Given the description of an element on the screen output the (x, y) to click on. 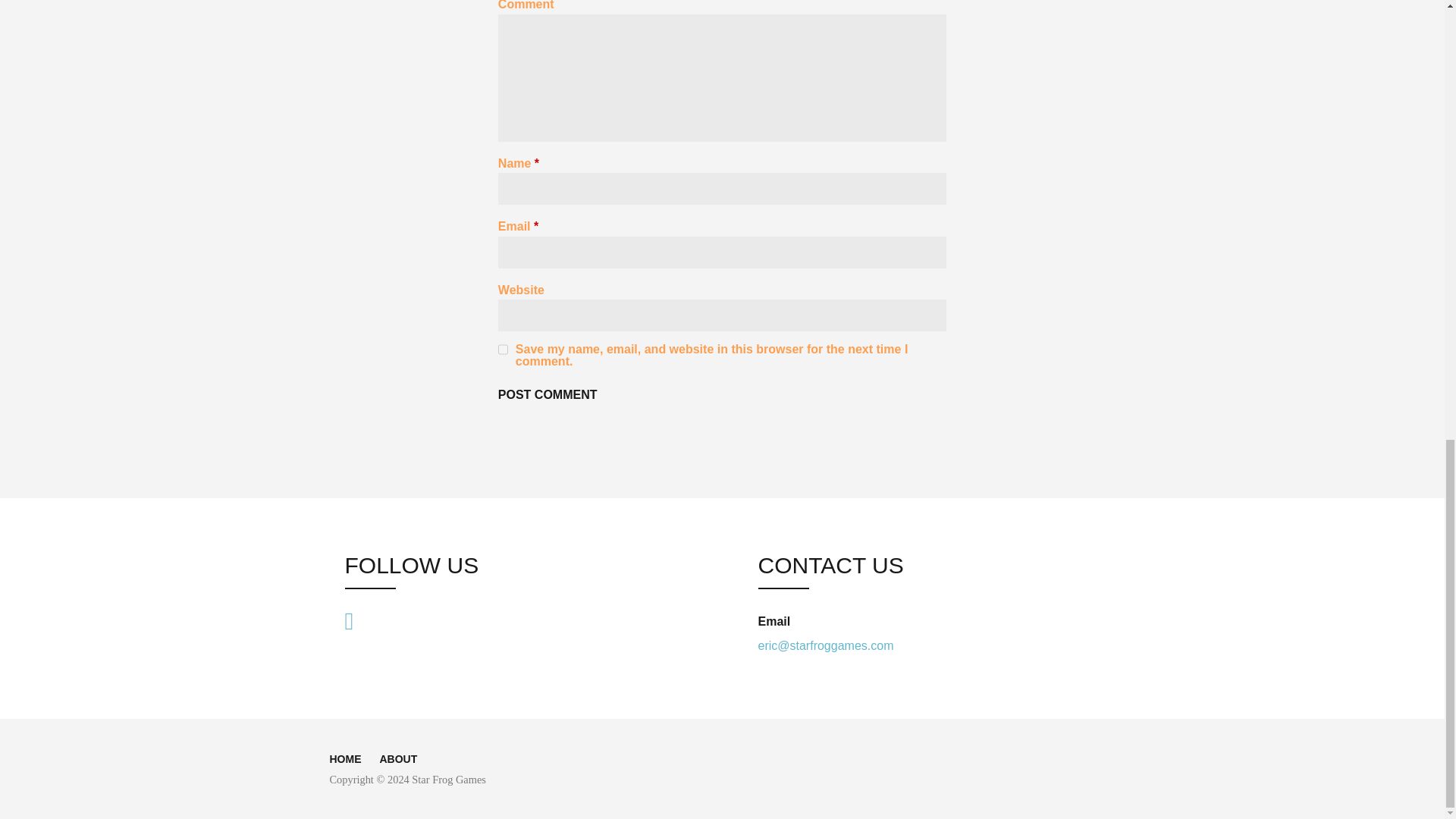
Post Comment (546, 395)
HOME (345, 758)
Post Comment (546, 395)
ABOUT (397, 758)
